Given the description of an element on the screen output the (x, y) to click on. 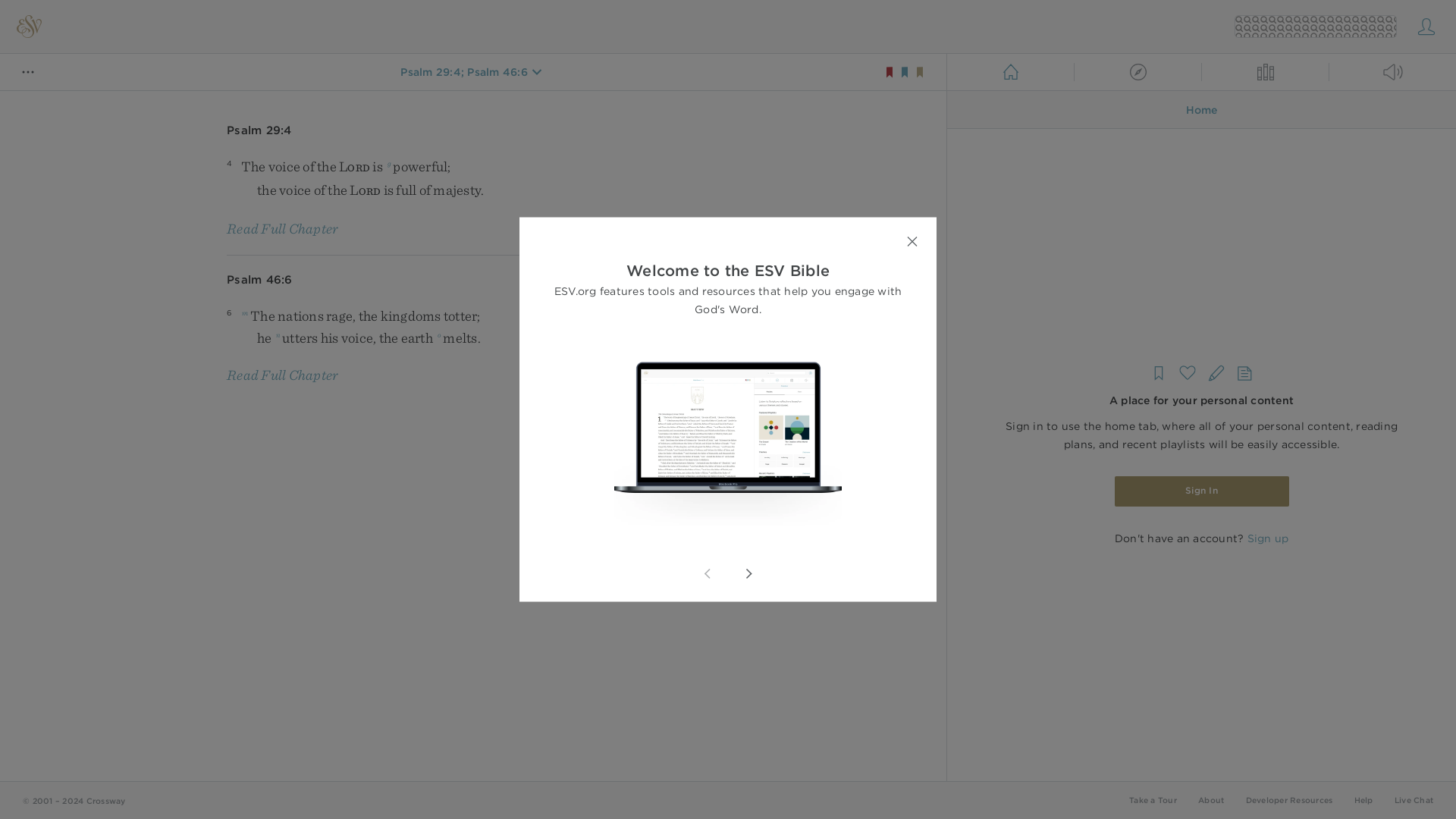
About (1211, 800)
Developer Resources (1288, 800)
Read Full Chapter (282, 374)
Psalm 29:4; Psalm 46:6 (463, 71)
Sign In (1201, 490)
Live Chat (1413, 800)
Read Full Chapter (282, 228)
Take a Tour (1152, 800)
Help (1363, 800)
Sign up (1267, 538)
